Given the description of an element on the screen output the (x, y) to click on. 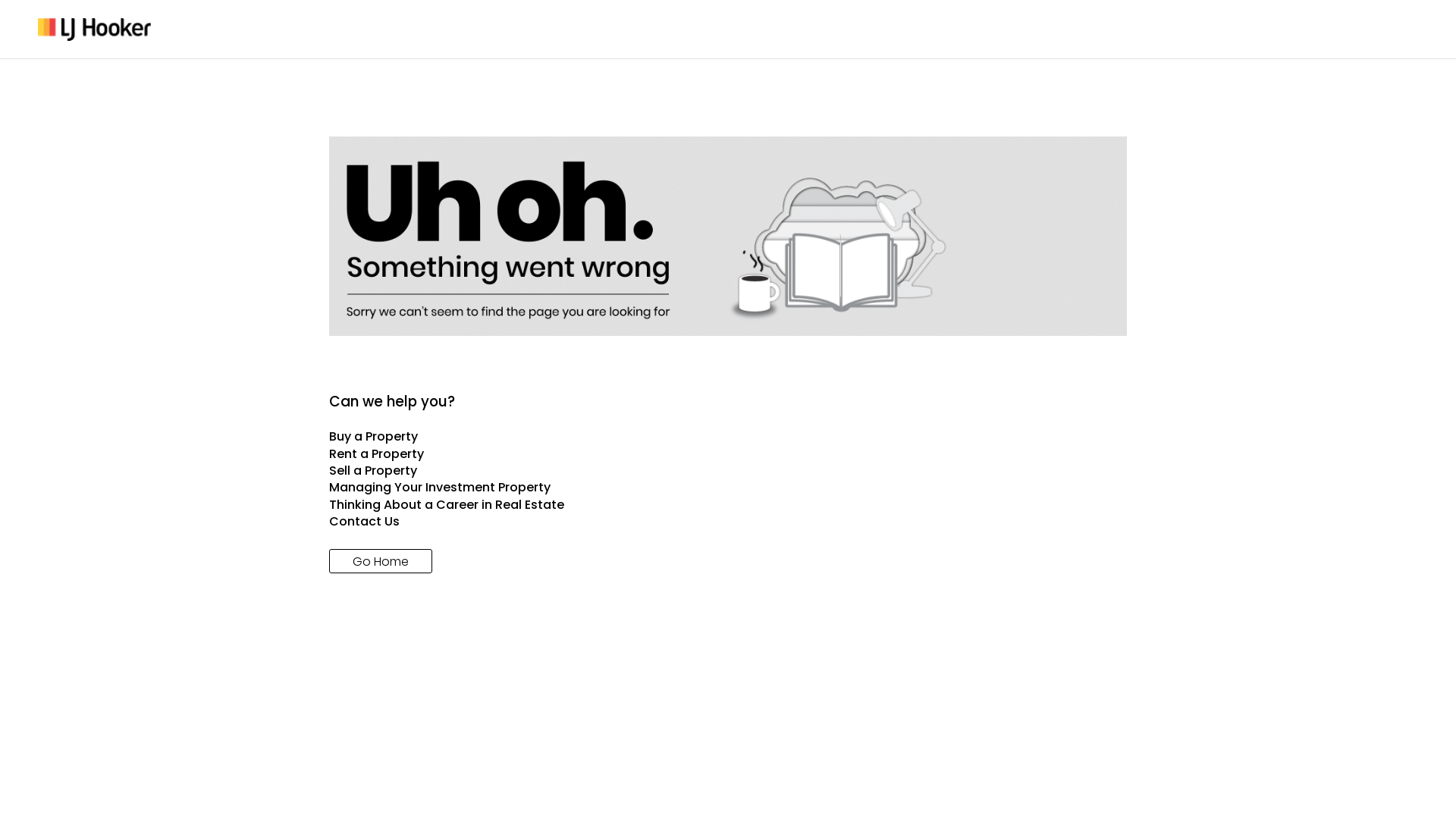
Go Home Element type: text (380, 561)
Rent a Property Element type: text (727, 453)
Thinking About a Career in Real Estate Element type: text (727, 504)
Managing Your Investment Property Element type: text (727, 487)
Contact Us Element type: text (727, 521)
Buy a Property Element type: text (727, 436)
Sell a Property Element type: text (727, 470)
